Given the description of an element on the screen output the (x, y) to click on. 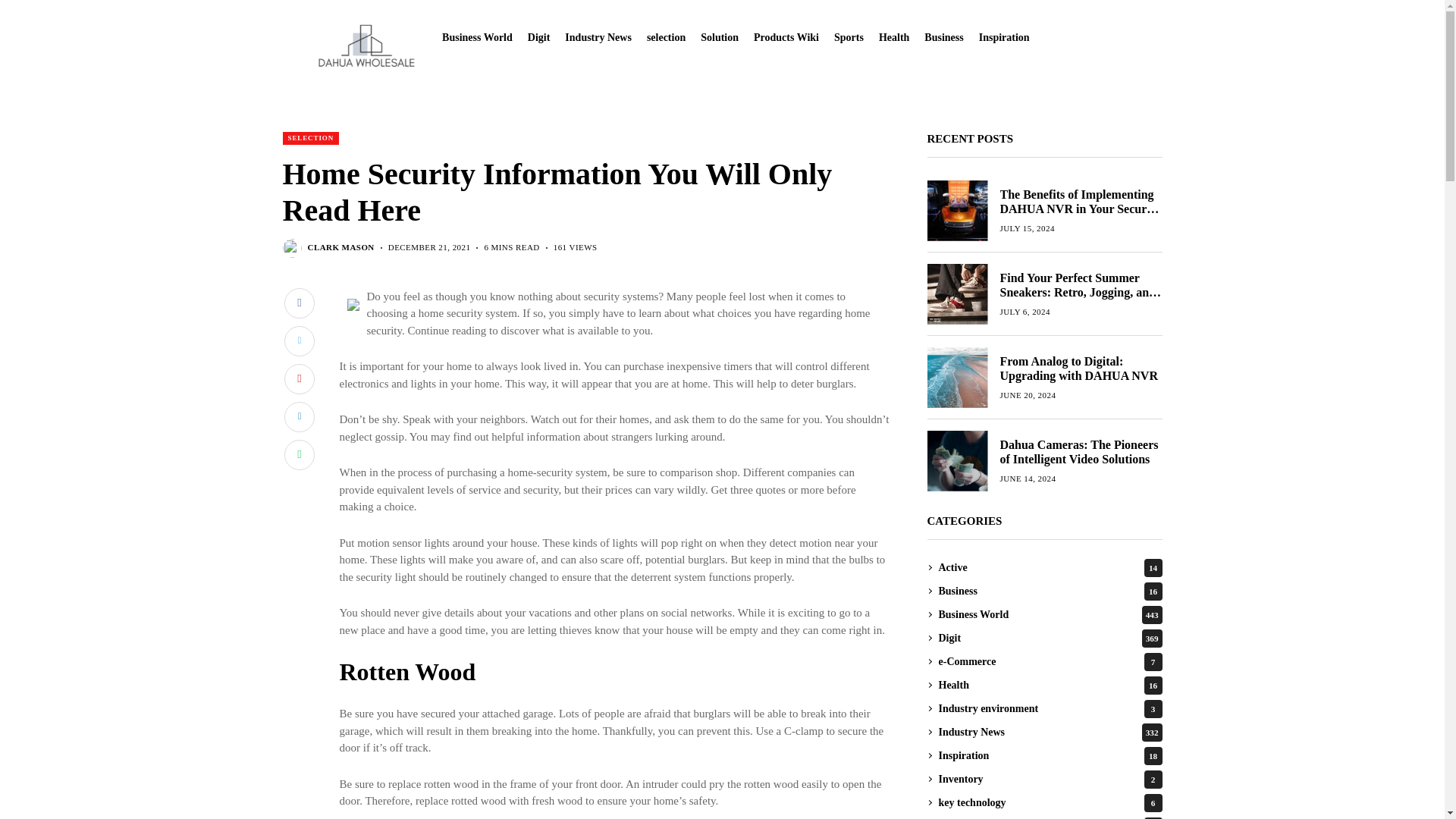
Posts by Clark Mason (340, 247)
SELECTION (310, 137)
Products Wiki (786, 37)
Industry News (597, 37)
Sports (848, 37)
selection (665, 37)
From Analog to Digital: Upgrading with DAHUA NVR (956, 376)
Business World (477, 37)
Digit (538, 37)
Health (893, 37)
Business (943, 37)
Solution (719, 37)
Dahua Cameras: The Pioneers of Intelligent Video Solutions (956, 459)
